Given the description of an element on the screen output the (x, y) to click on. 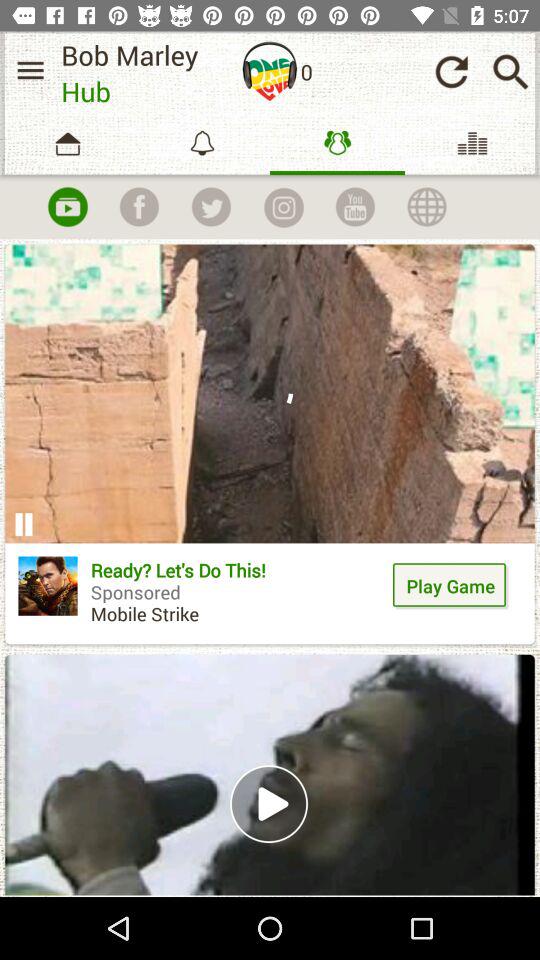
all around the world (427, 207)
